Given the description of an element on the screen output the (x, y) to click on. 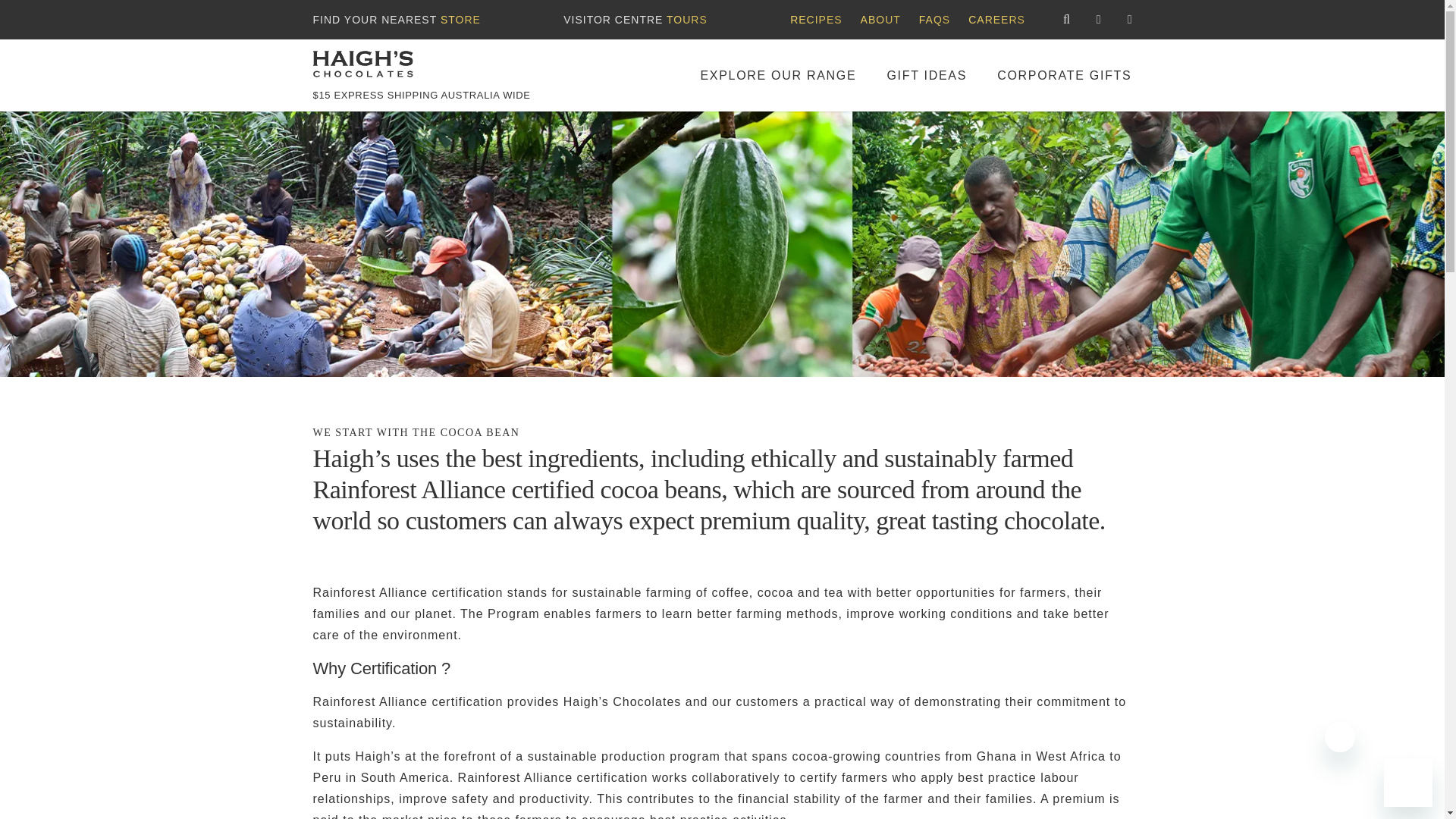
FIND YOUR NEAREST STORE (396, 19)
FAQS (934, 19)
EXPLORE OUR RANGE (778, 74)
CAREERS (996, 19)
VISITOR CENTRE TOURS (635, 19)
GIFT IDEAS (926, 74)
ABOUT (880, 19)
RECIPES (815, 19)
